Given the description of an element on the screen output the (x, y) to click on. 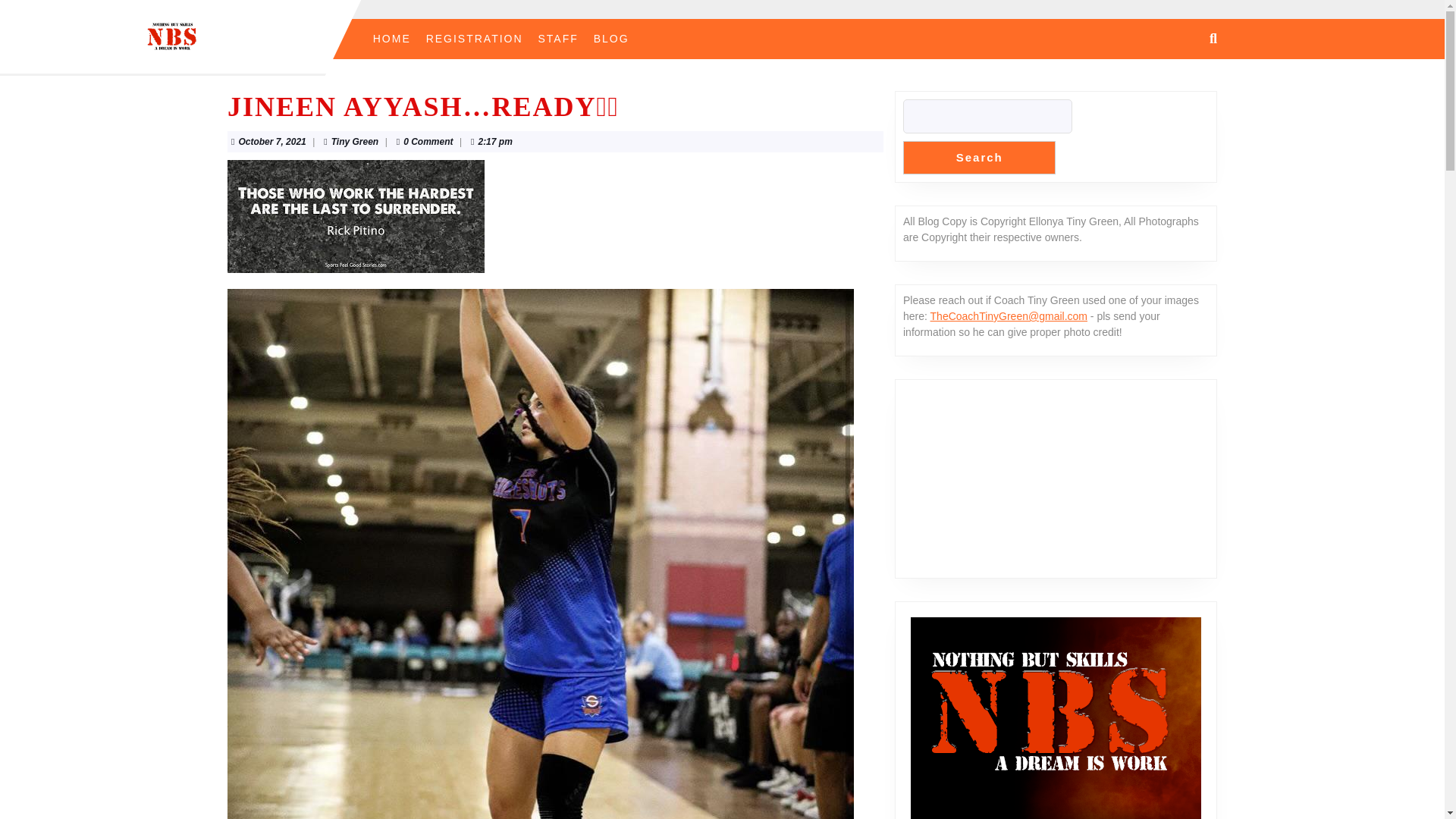
STAFF (558, 39)
Search (978, 157)
BLOG (271, 141)
HOME (611, 39)
REGISTRATION (391, 39)
REAL TALK....WITH TINY GREEN (474, 39)
